Given the description of an element on the screen output the (x, y) to click on. 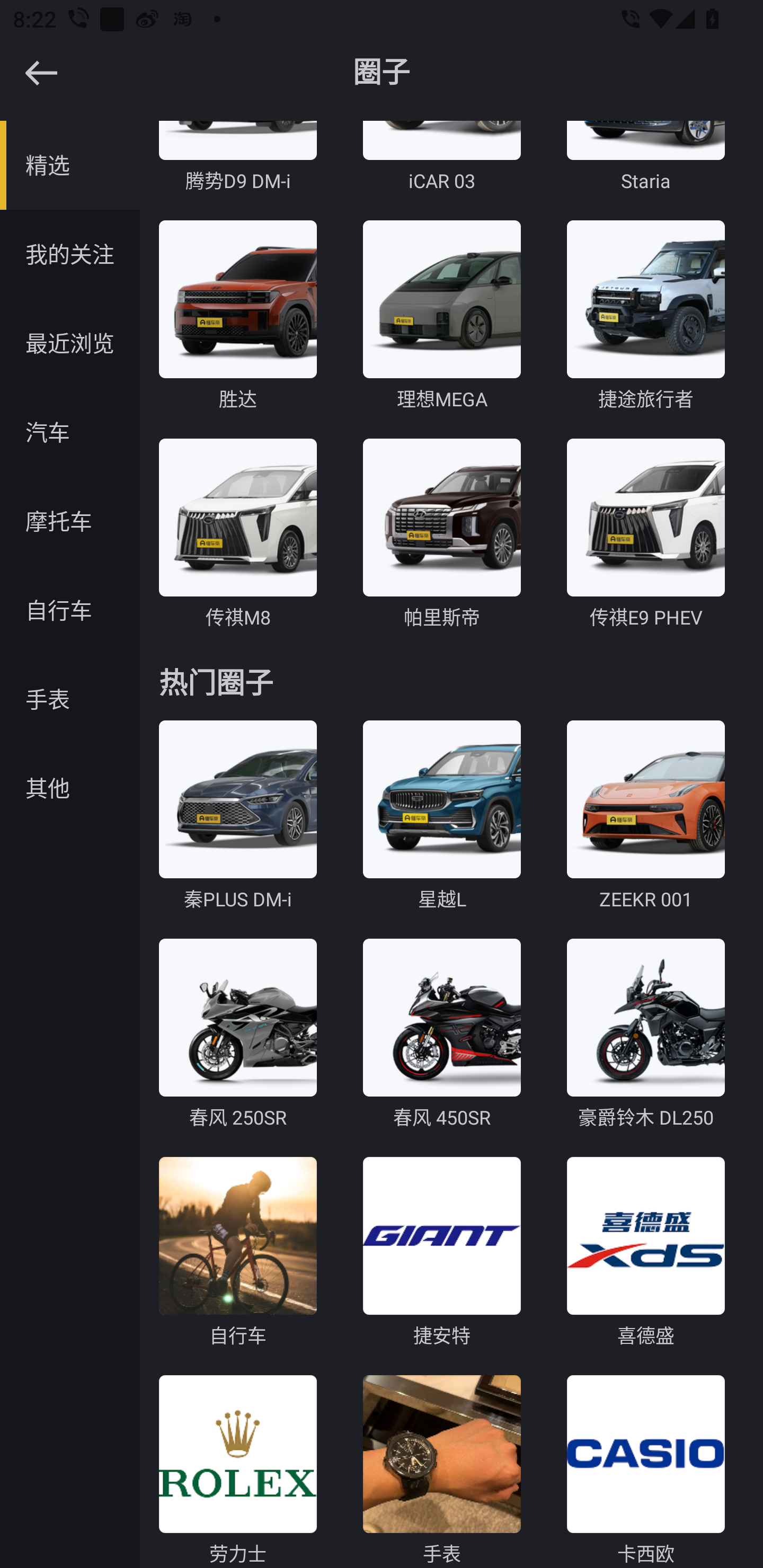
精选 (69, 165)
我的关注 (69, 254)
胜达 (237, 317)
理想MEGA (442, 317)
捷途旅行者 (645, 317)
最近浏览 (69, 343)
汽车 (69, 431)
传祺M8 (237, 535)
帕里斯帝 (442, 535)
传祺E9 PHEV (645, 535)
摩托车 (69, 521)
自行车 (69, 610)
手表 (69, 699)
秦PLUS DM-i (237, 815)
星越L (442, 815)
ZEEKR 001 (645, 815)
其他 (69, 787)
春风 250SR (237, 1035)
春风 450SR (442, 1035)
豪爵铃木 DL250 (645, 1035)
自行车 (237, 1253)
捷安特 (442, 1253)
喜德盛 (645, 1253)
劳力士 (237, 1471)
手表 (442, 1471)
卡西欧 (645, 1471)
